Given the description of an element on the screen output the (x, y) to click on. 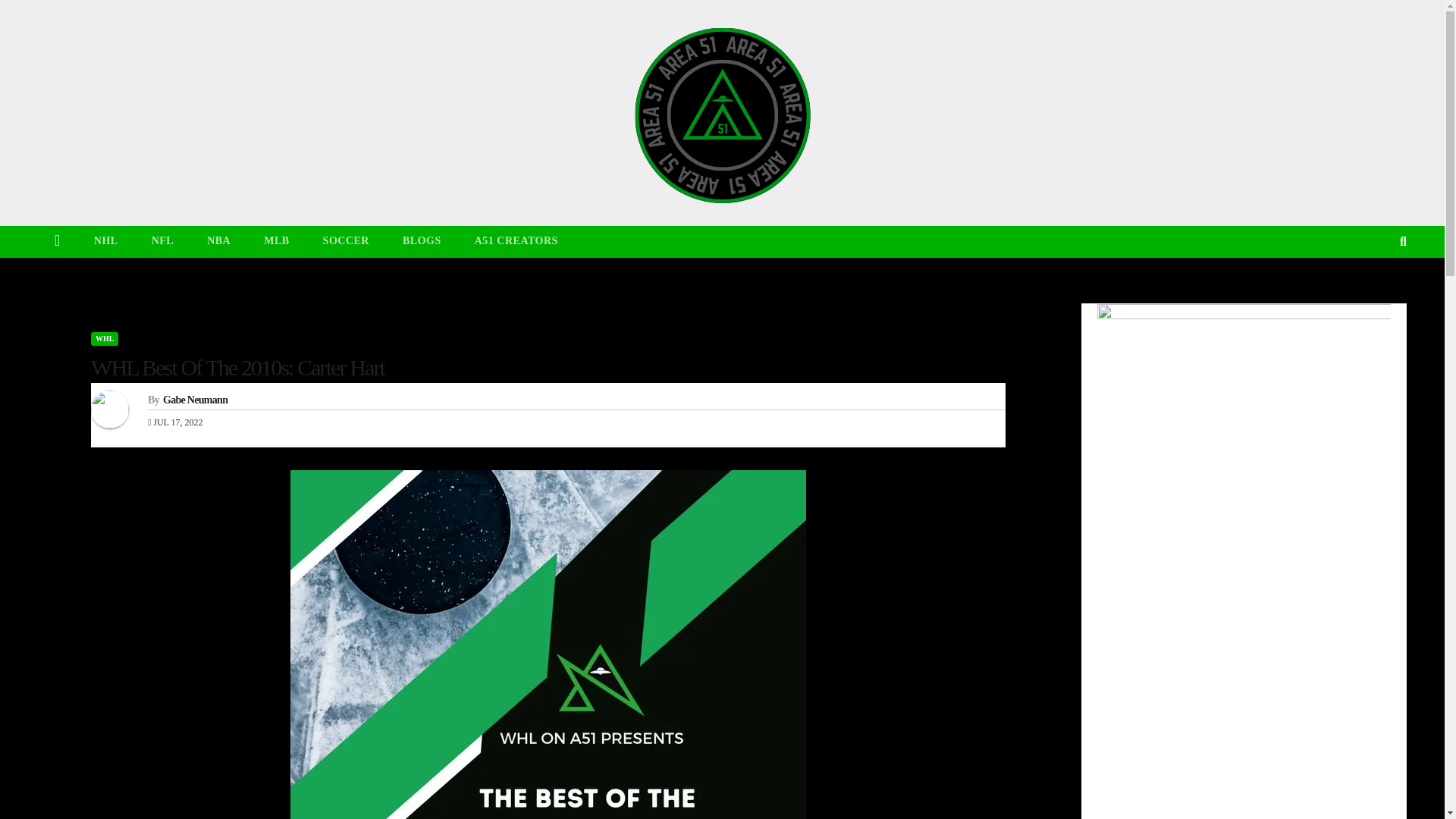
BLOGS (421, 241)
SOCCER (345, 241)
WHL Best Of The 2010s: Carter Hart (237, 367)
SOCCER (345, 241)
MLB (276, 241)
Gabe Neumann (195, 399)
NBA (218, 241)
NFL (162, 241)
A51 CREATORS (516, 241)
NHL (106, 241)
MLB (276, 241)
Permalink to: WHL Best of the 2010s: Carter Hart (237, 367)
NBA (218, 241)
WHL (103, 338)
BLOGS (421, 241)
